Given the description of an element on the screen output the (x, y) to click on. 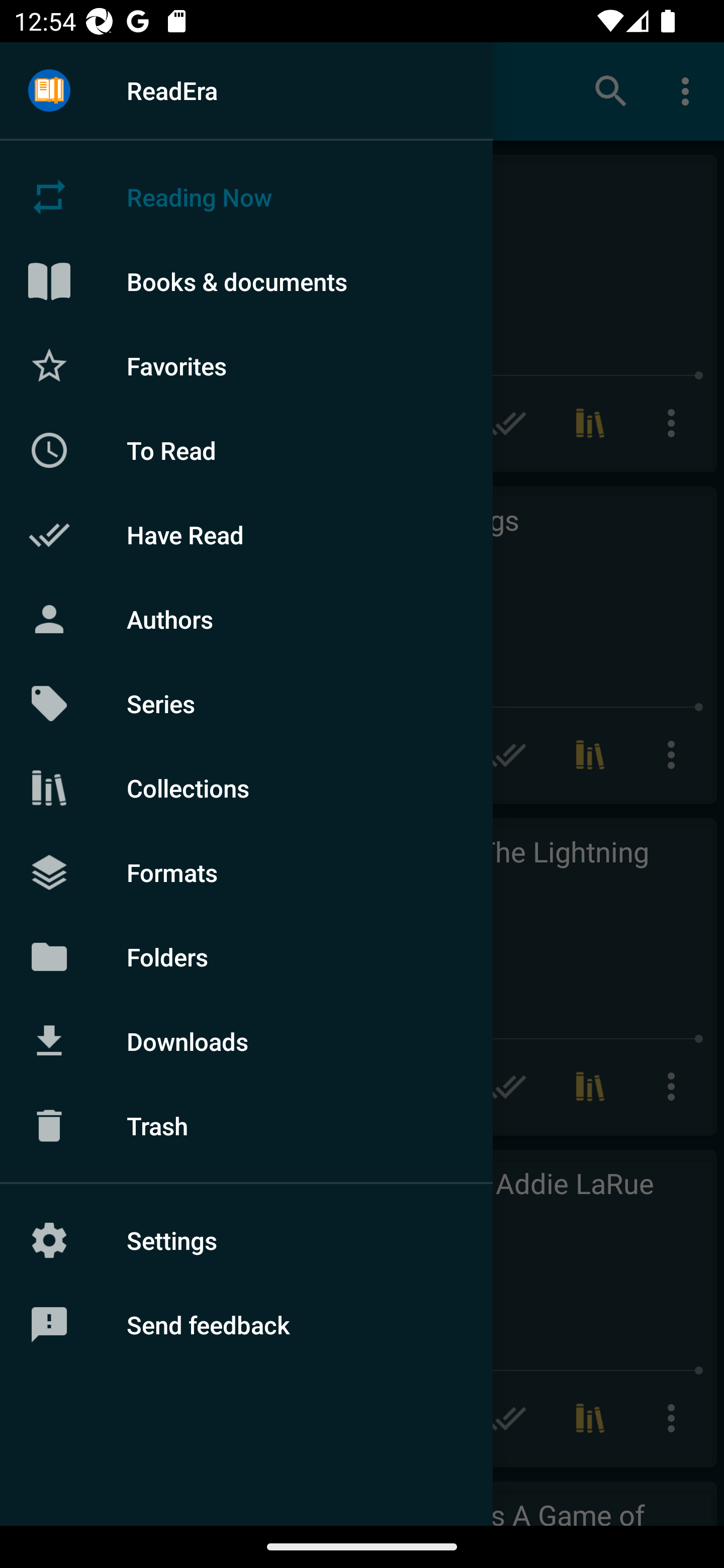
Menu (49, 91)
ReadEra (246, 89)
Search books & documents (611, 90)
More options (688, 90)
Reading Now (246, 197)
Books & documents (246, 281)
Favorites (246, 365)
To Read (246, 449)
Have Read (246, 534)
Authors (246, 619)
Series (246, 703)
Collections (246, 787)
Formats (246, 871)
Folders (246, 956)
Downloads (246, 1040)
Trash (246, 1125)
Settings (246, 1239)
Send feedback (246, 1324)
